Given the description of an element on the screen output the (x, y) to click on. 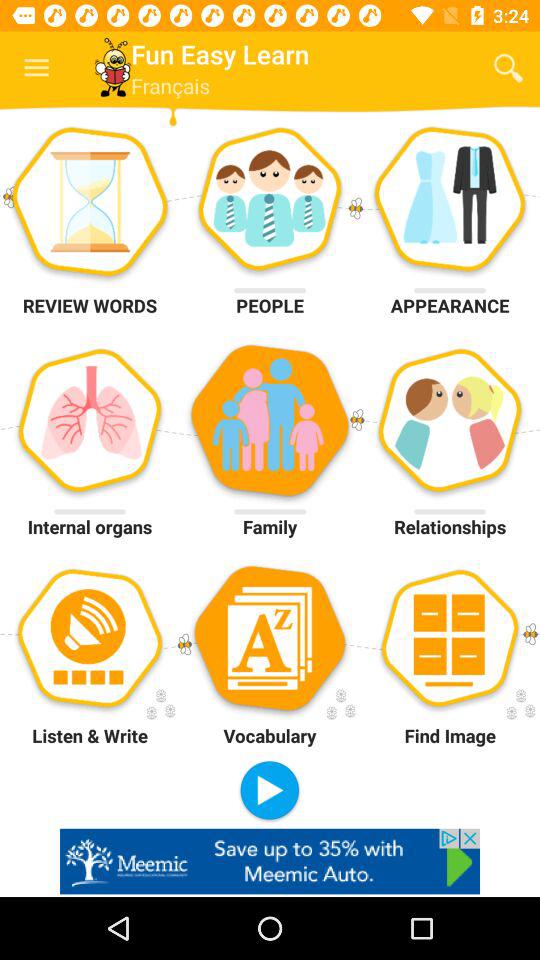
play the option (269, 791)
